Given the description of an element on the screen output the (x, y) to click on. 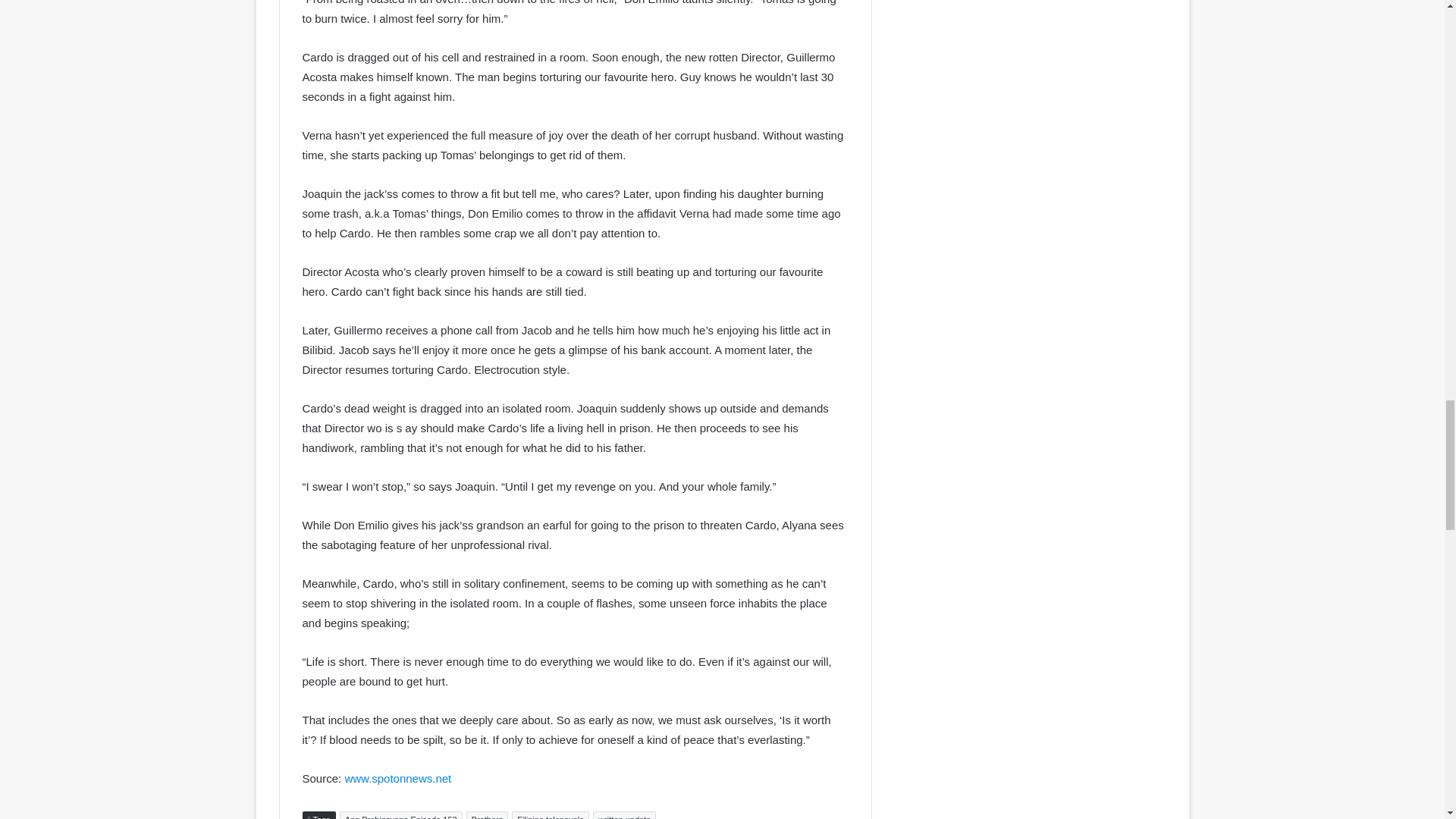
Brothers (486, 815)
Ang Probinsyano Episode 152 (401, 815)
written update (624, 815)
www.spotonnews.net (397, 778)
Filipino telenovela (550, 815)
